Given the description of an element on the screen output the (x, y) to click on. 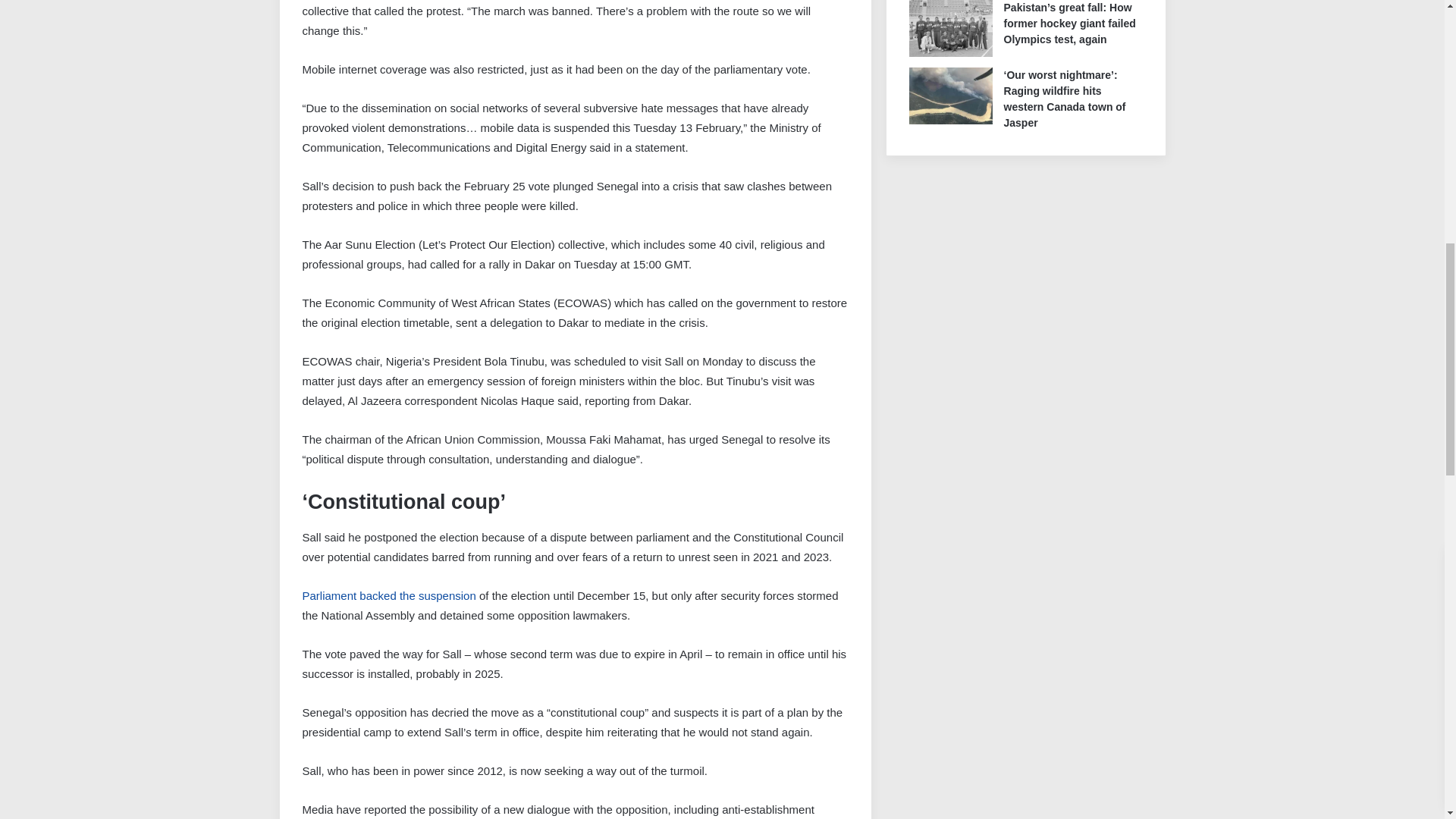
Parliament backed the suspension (388, 594)
